Given the description of an element on the screen output the (x, y) to click on. 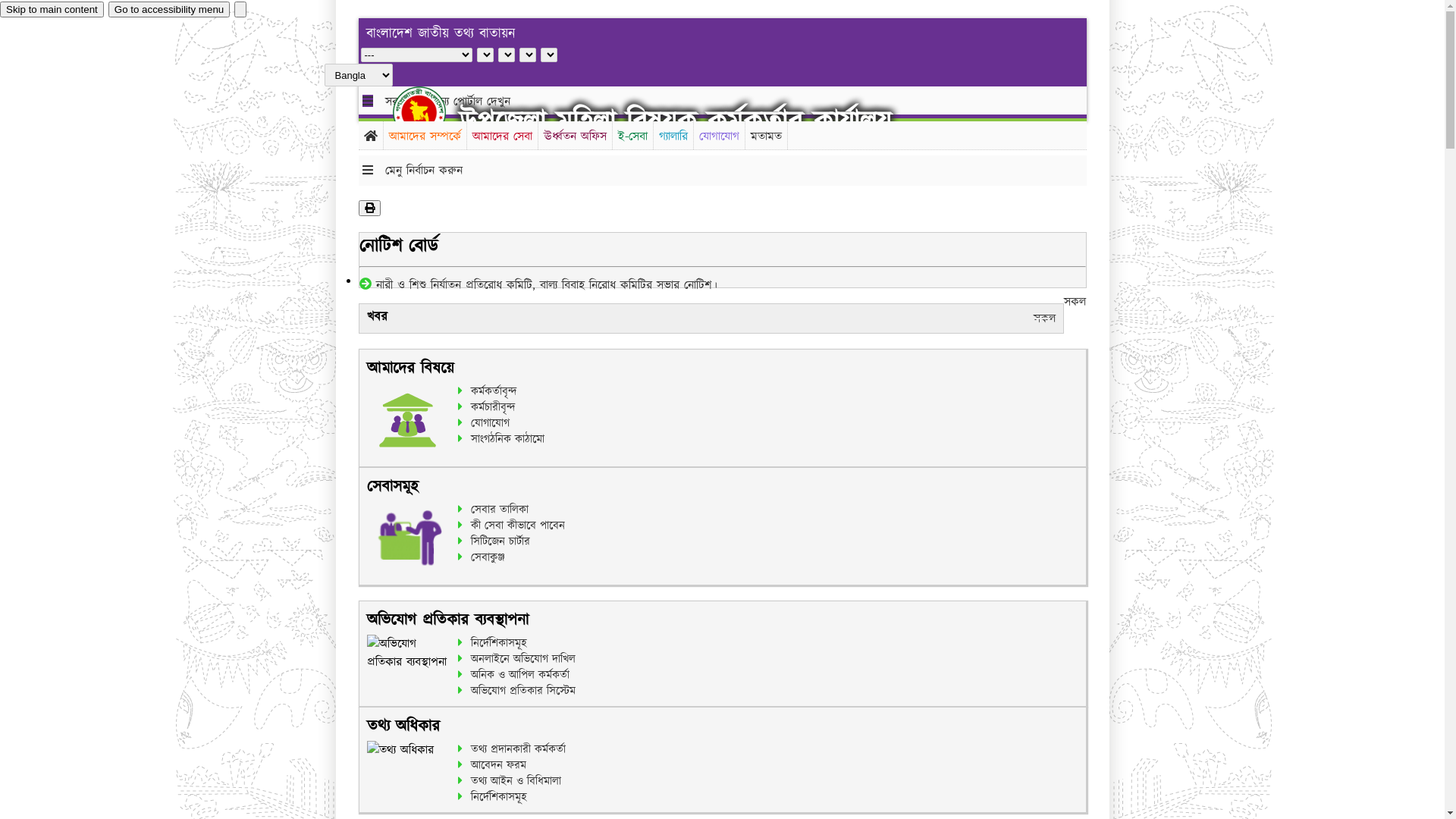

                
             Element type: hover (431, 112)
Go to accessibility menu Element type: text (168, 9)
close Element type: hover (240, 9)
Skip to main content Element type: text (51, 9)
